Given the description of an element on the screen output the (x, y) to click on. 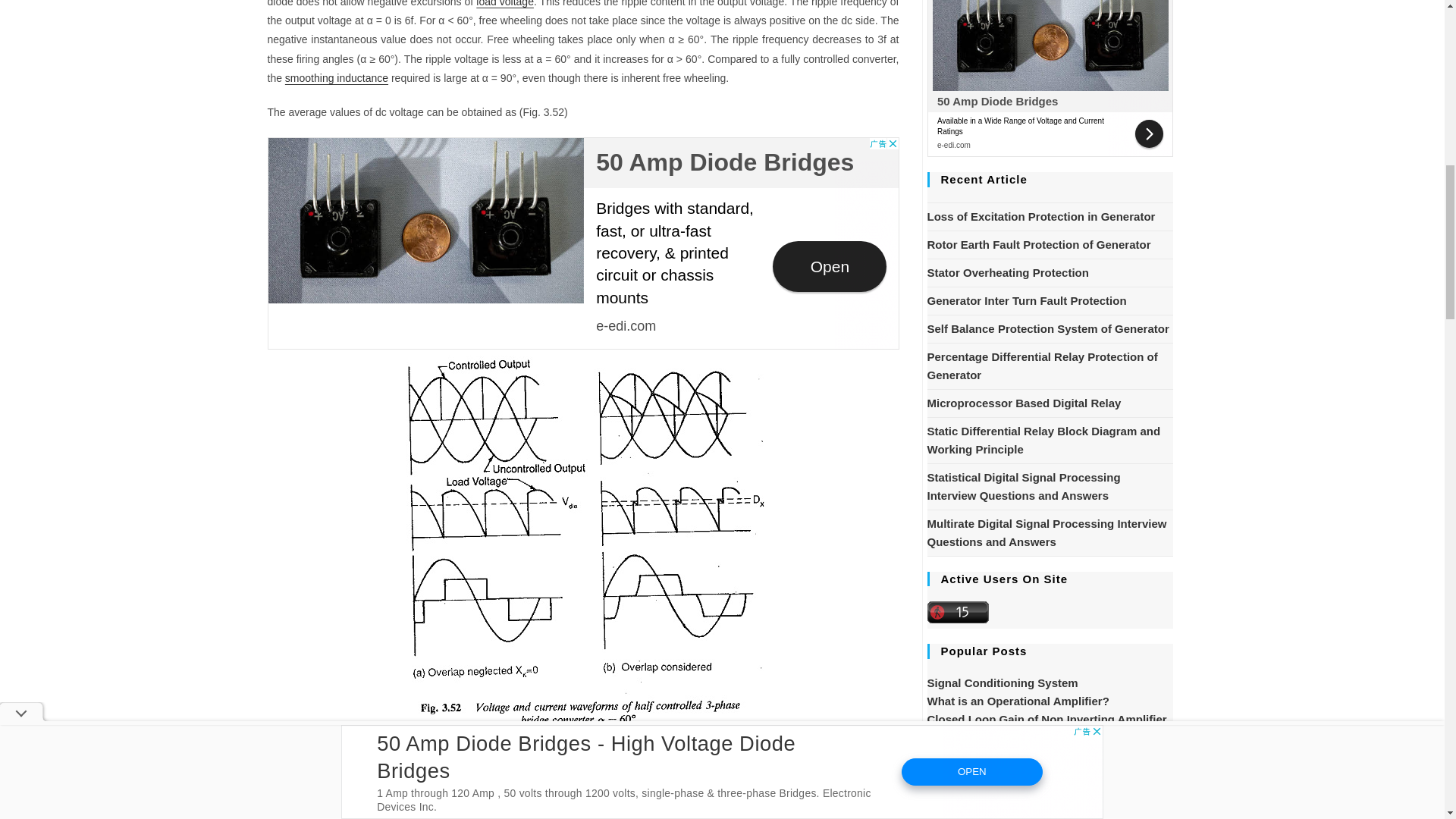
Advertisement (582, 243)
Advertisement (1049, 78)
